Given the description of an element on the screen output the (x, y) to click on. 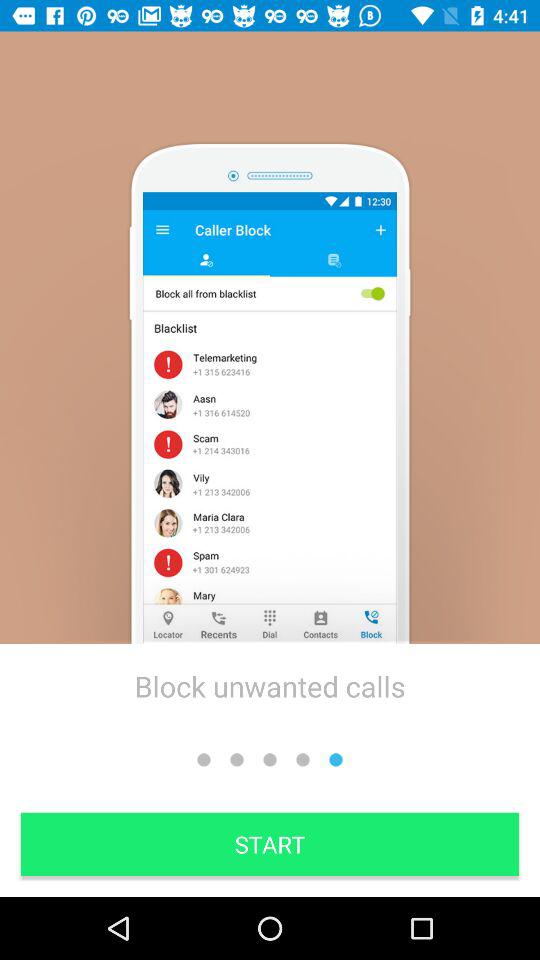
click the start button on the web page (269, 844)
click on the image above the text block unwanted calls (269, 418)
select the 4th option above the start button on the web page (303, 759)
select the 5th option above the start button on the web page (336, 759)
click on the second dot from left (236, 759)
